Given the description of an element on the screen output the (x, y) to click on. 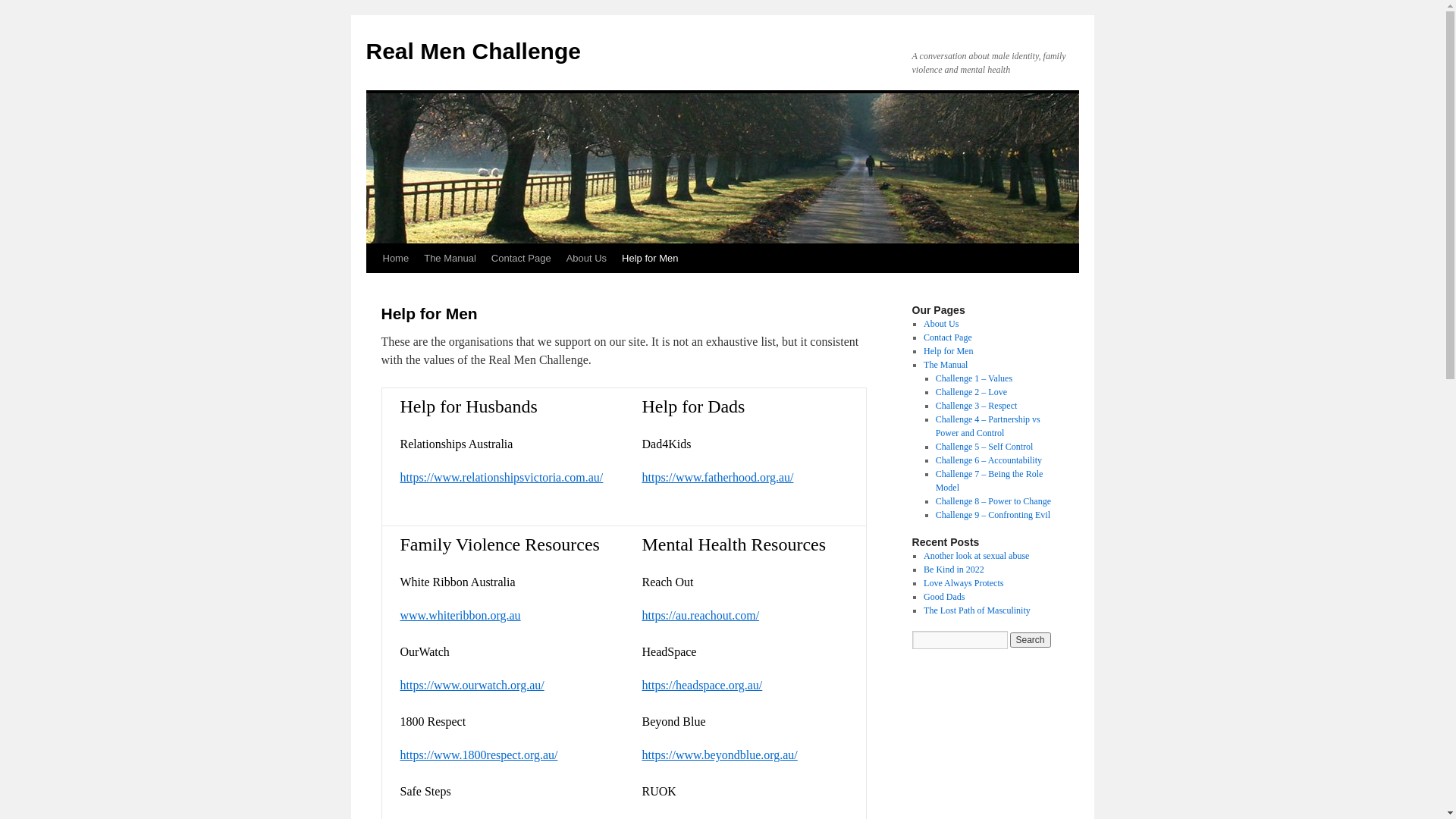
https://www.ourwatch.org.au/ Element type: text (472, 684)
https://www.fatherhood.org.au/ Element type: text (717, 476)
Love Always Protects Element type: text (963, 582)
The Manual Element type: text (945, 364)
https://www.beyondblue.org.au/ Element type: text (719, 754)
Help for Men Element type: text (649, 258)
Home Element type: text (395, 258)
Search Element type: text (1030, 639)
https://www.1800respect.org.au/ Element type: text (479, 754)
Good Dads Element type: text (943, 596)
https://headspace.org.au/ Element type: text (701, 684)
https://au.reachout.com/ Element type: text (700, 614)
Skip to content Element type: text (372, 286)
The Lost Path of Masculinity Element type: text (976, 610)
About Us Element type: text (940, 323)
Contact Page Element type: text (520, 258)
Contact Page Element type: text (947, 337)
Real Men Challenge Element type: text (472, 50)
www.whiteribbon.org.au Element type: text (460, 614)
Another look at sexual abuse Element type: text (976, 555)
Be Kind in 2022 Element type: text (953, 569)
https://www.relationshipsvictoria.com.au/ Element type: text (501, 476)
The Manual Element type: text (449, 258)
About Us Element type: text (586, 258)
Help for Men Element type: text (947, 350)
